Given the description of an element on the screen output the (x, y) to click on. 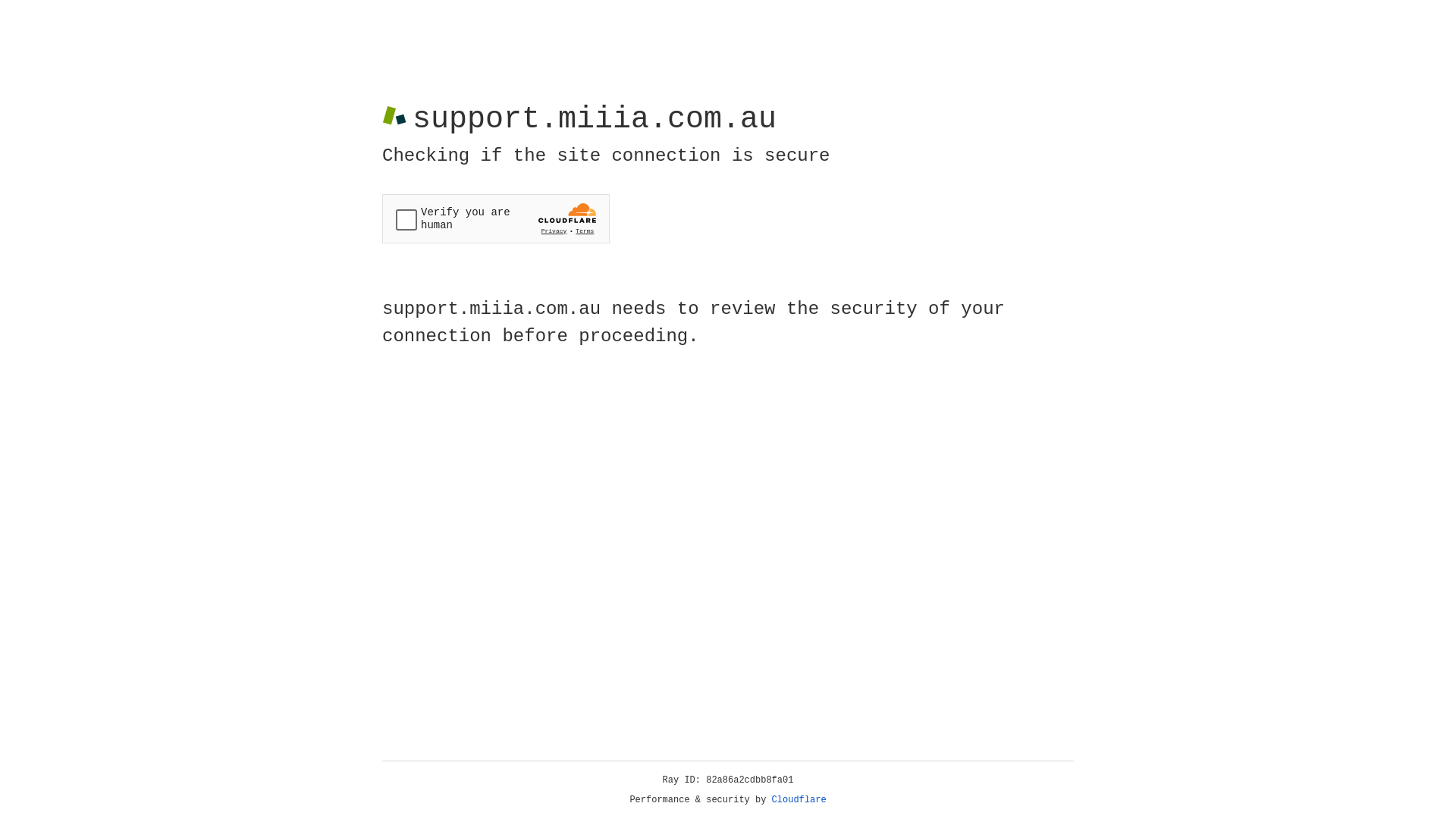
Widget containing a Cloudflare security challenge Element type: hover (495, 218)
Cloudflare Element type: text (798, 799)
